Given the description of an element on the screen output the (x, y) to click on. 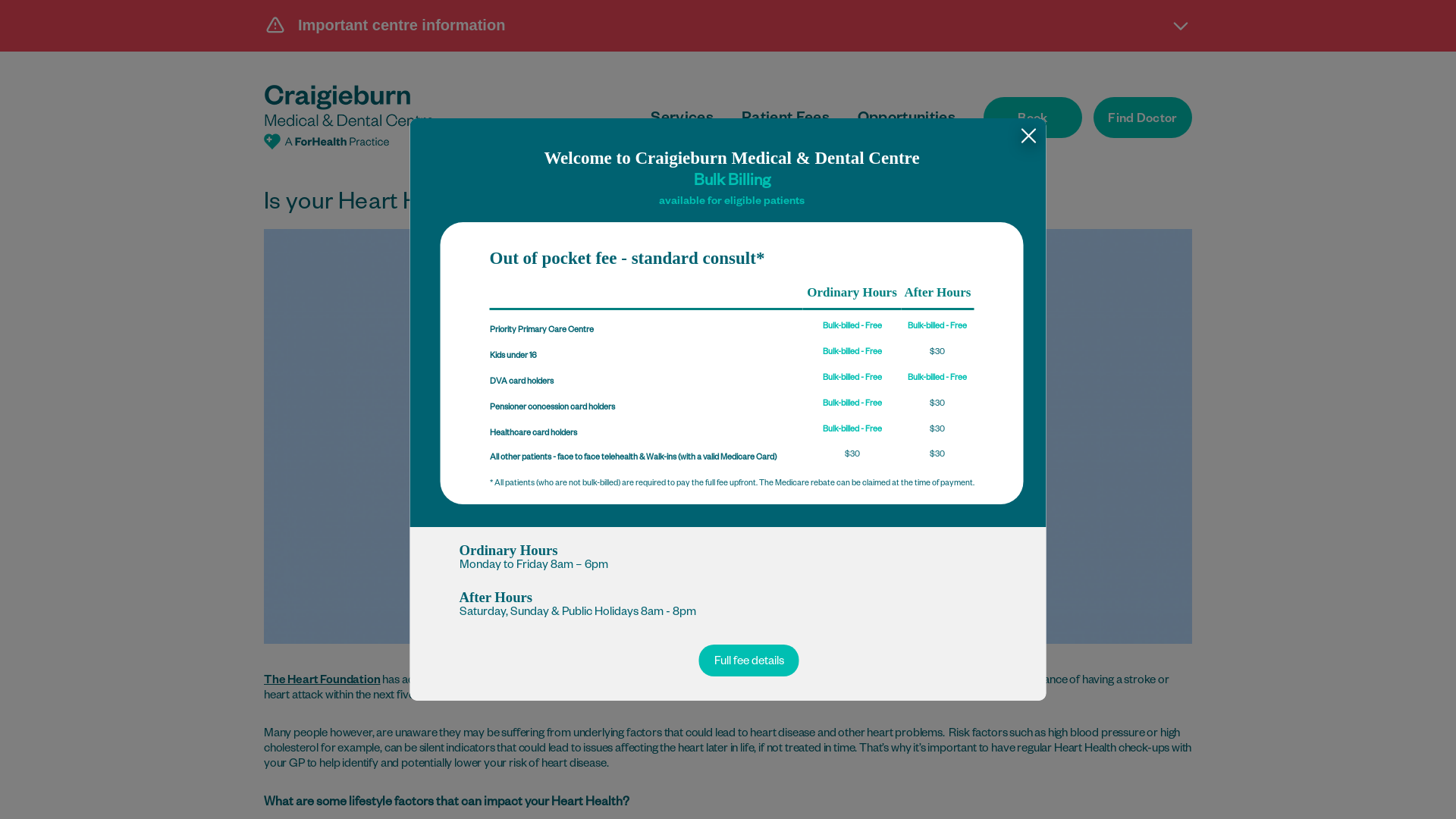
Book Element type: text (1032, 117)
Opportunities Element type: text (906, 119)
Important centre information Element type: text (727, 24)
Is your Heart Health at risk? Element type: hover (727, 436)
Services Element type: text (681, 119)
Patient Fees Element type: text (785, 119)
Full fee details Element type: text (749, 660)
The Heart Foundation Element type: text (321, 680)
Find Doctor Element type: text (1142, 117)
Primary Medical Centre Craigieburn Element type: hover (348, 116)
